Given the description of an element on the screen output the (x, y) to click on. 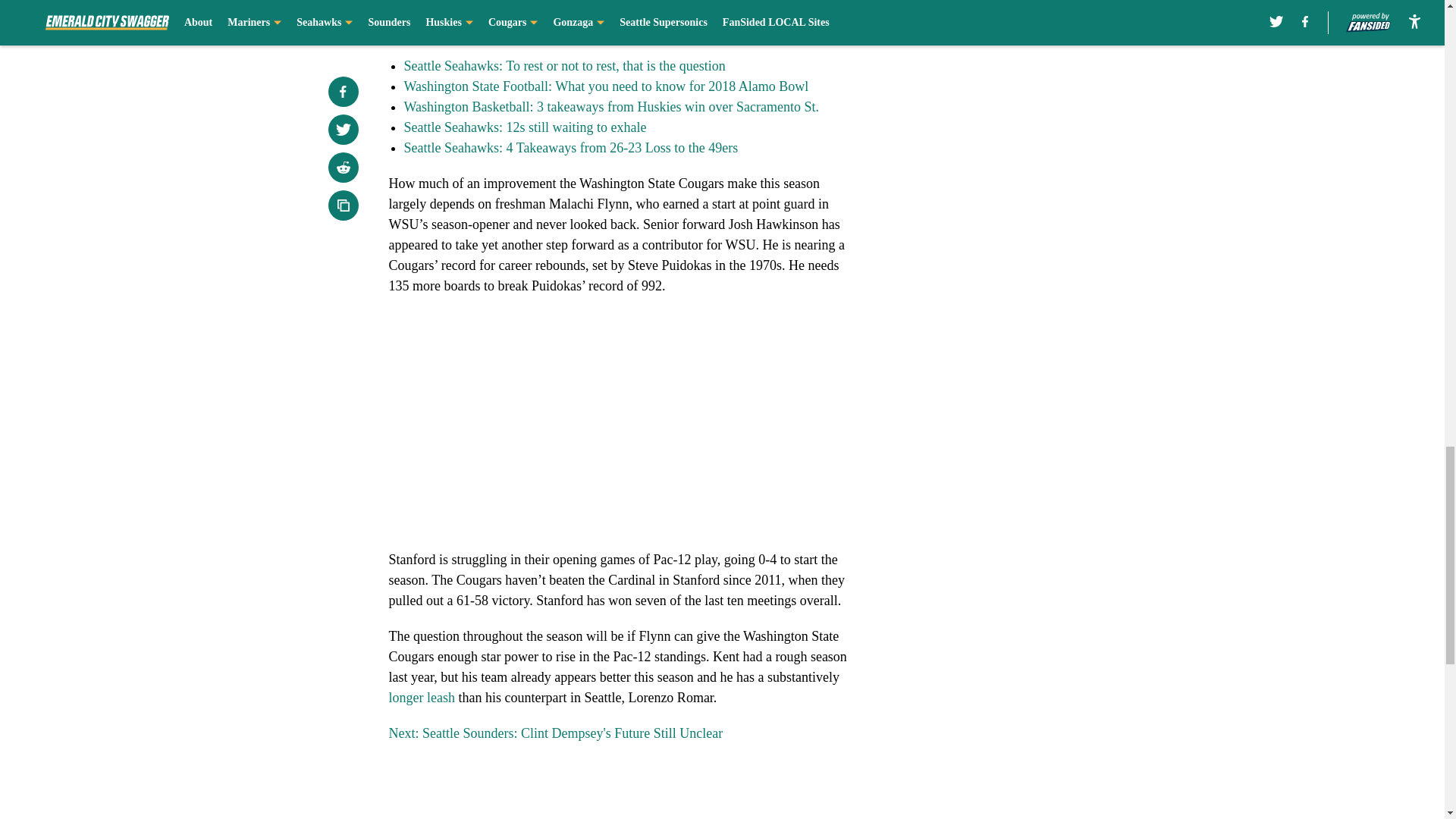
Seattle Seahawks: 12s still waiting to exhale (524, 127)
longer leash (421, 697)
Seattle Seahawks: 4 Takeaways from 26-23 Loss to the 49ers (570, 147)
Next: Seattle Sounders: Clint Dempsey's Future Still Unclear (555, 733)
